Given the description of an element on the screen output the (x, y) to click on. 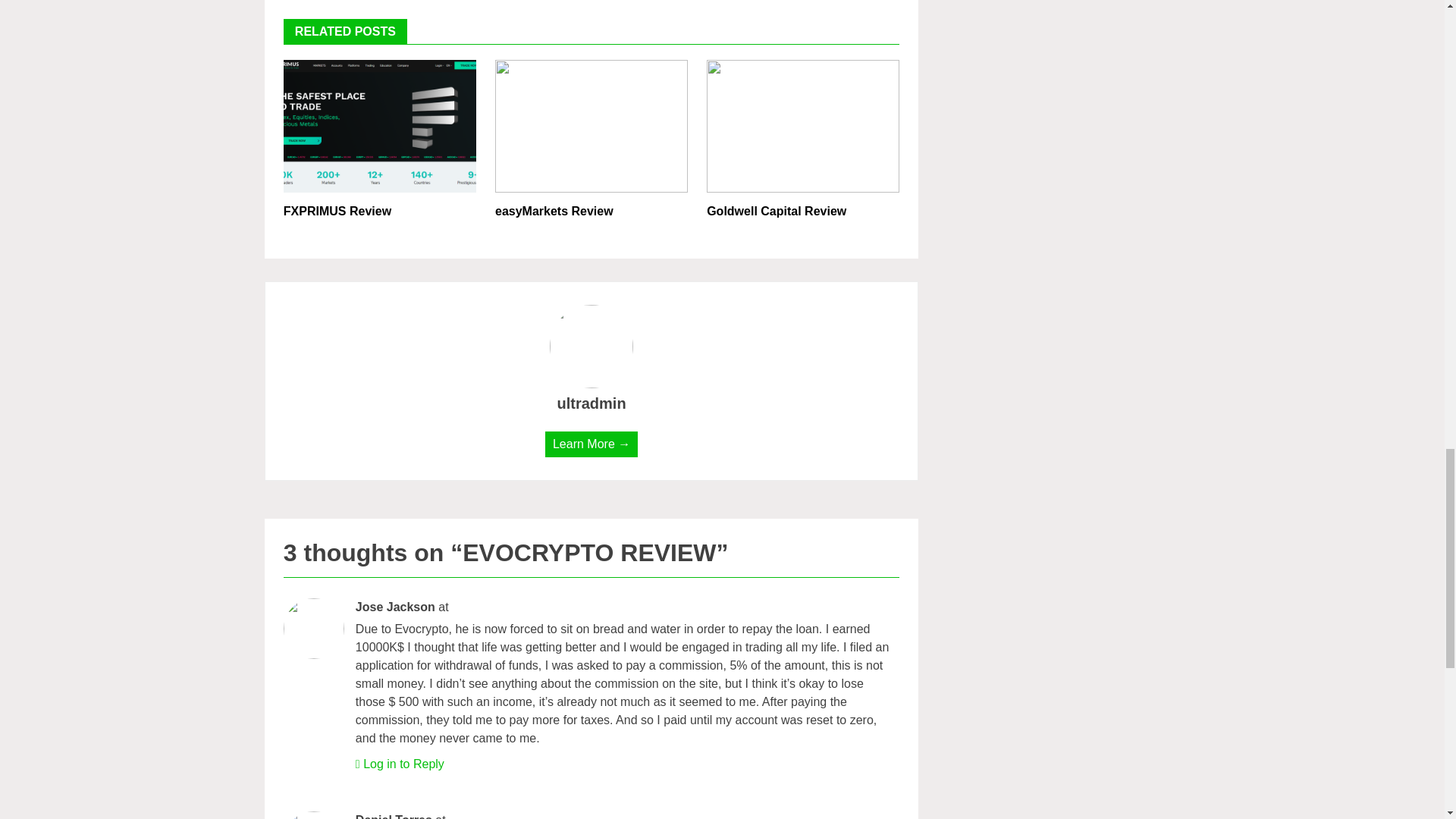
Log in to Reply (403, 763)
Goldwell Capital Review (775, 210)
FXPRIMUS Review (337, 210)
easyMarkets Review (553, 210)
